Given the description of an element on the screen output the (x, y) to click on. 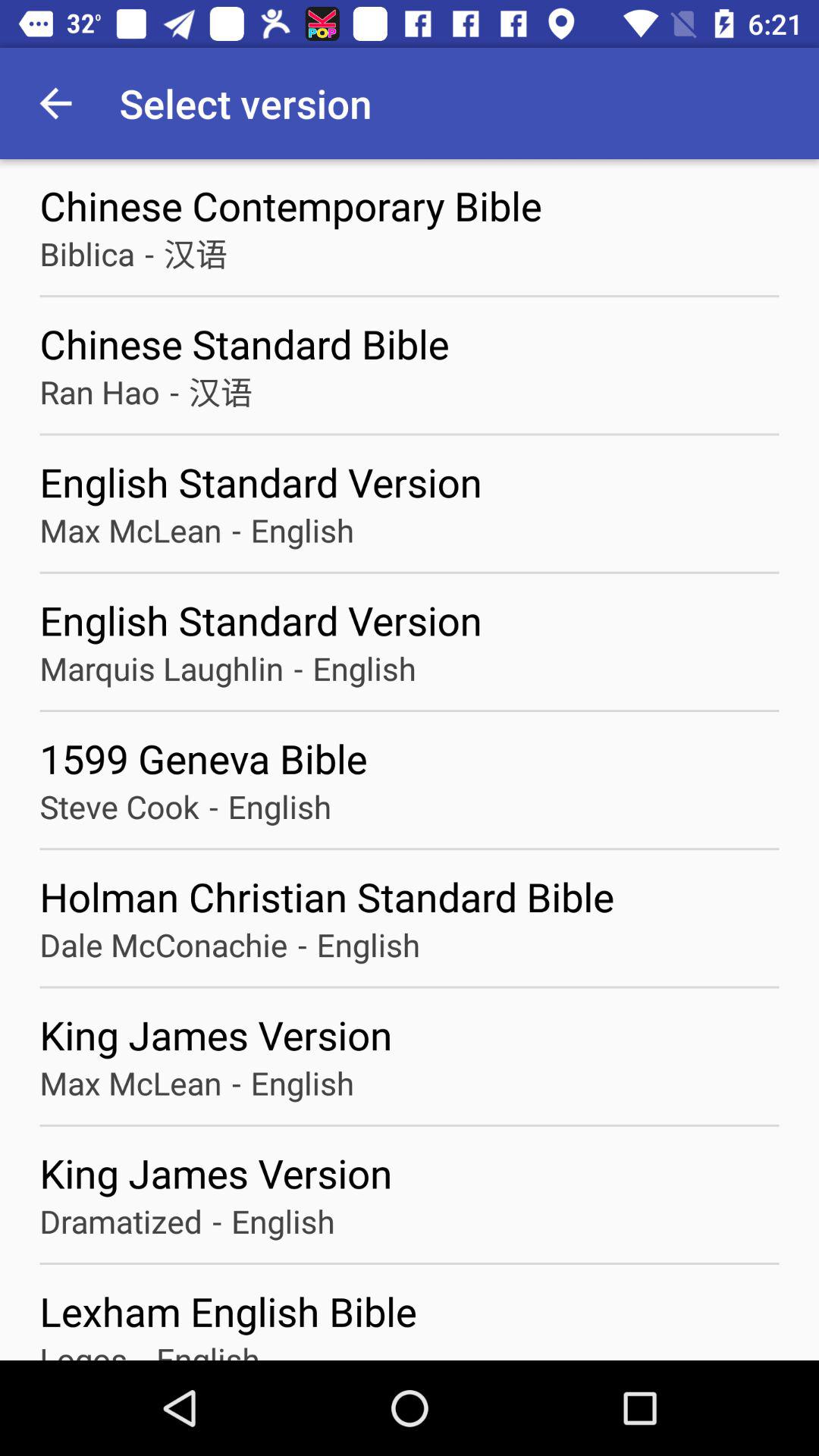
jump to 1599 geneva bible (409, 757)
